Given the description of an element on the screen output the (x, y) to click on. 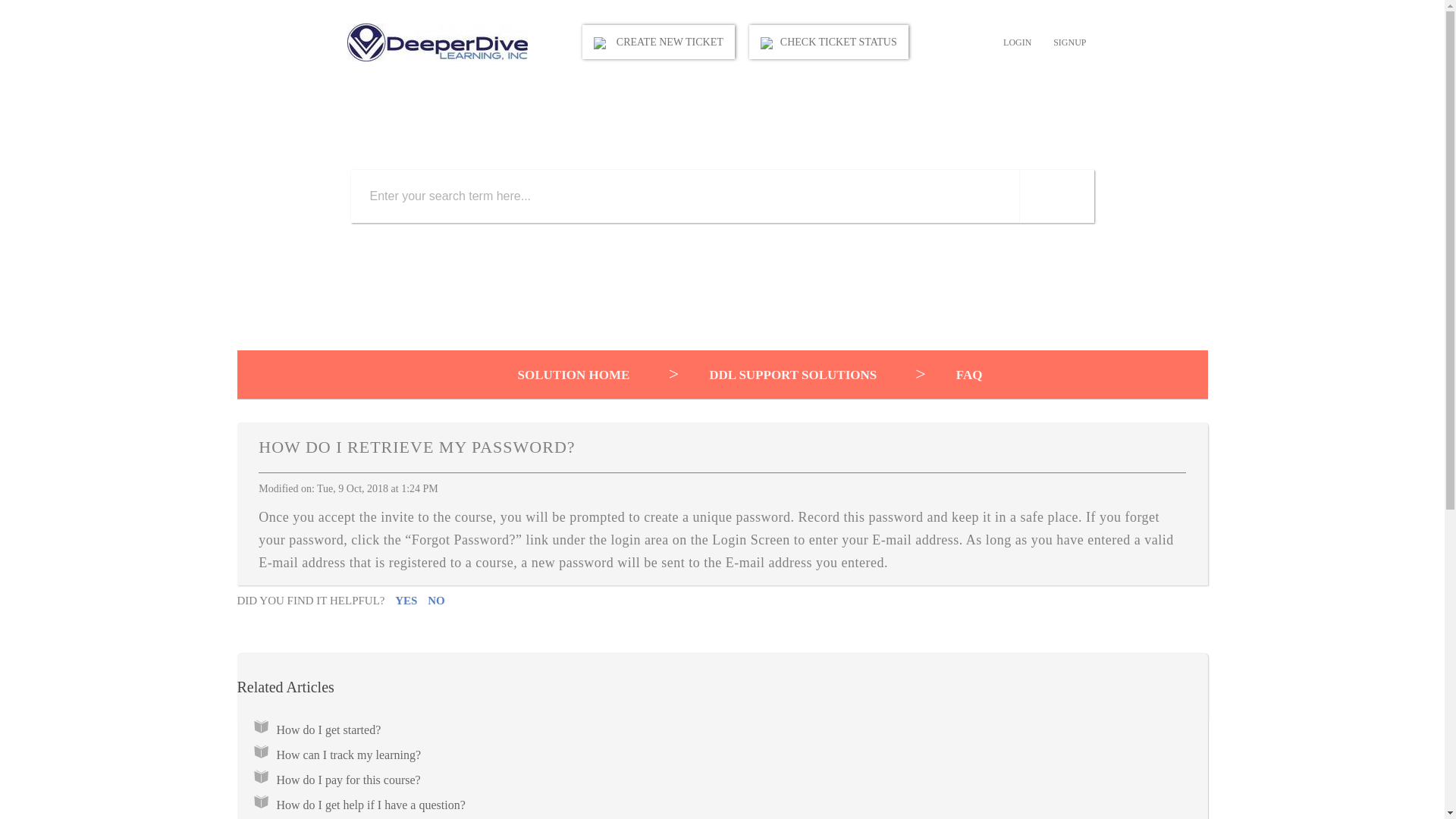
How do I pay for this course? (348, 779)
CHECK TICKET STATUS (828, 41)
How do I get help if I have a question? (370, 804)
SIGNUP (1069, 42)
CREATE NEW TICKET (658, 41)
DDL SUPPORT SOLUTIONS (758, 374)
SOLUTION HOME (545, 374)
How can I track my learning?   (351, 754)
How do I get started?  (330, 729)
FAQ (933, 374)
LOGIN (1017, 42)
